Given the description of an element on the screen output the (x, y) to click on. 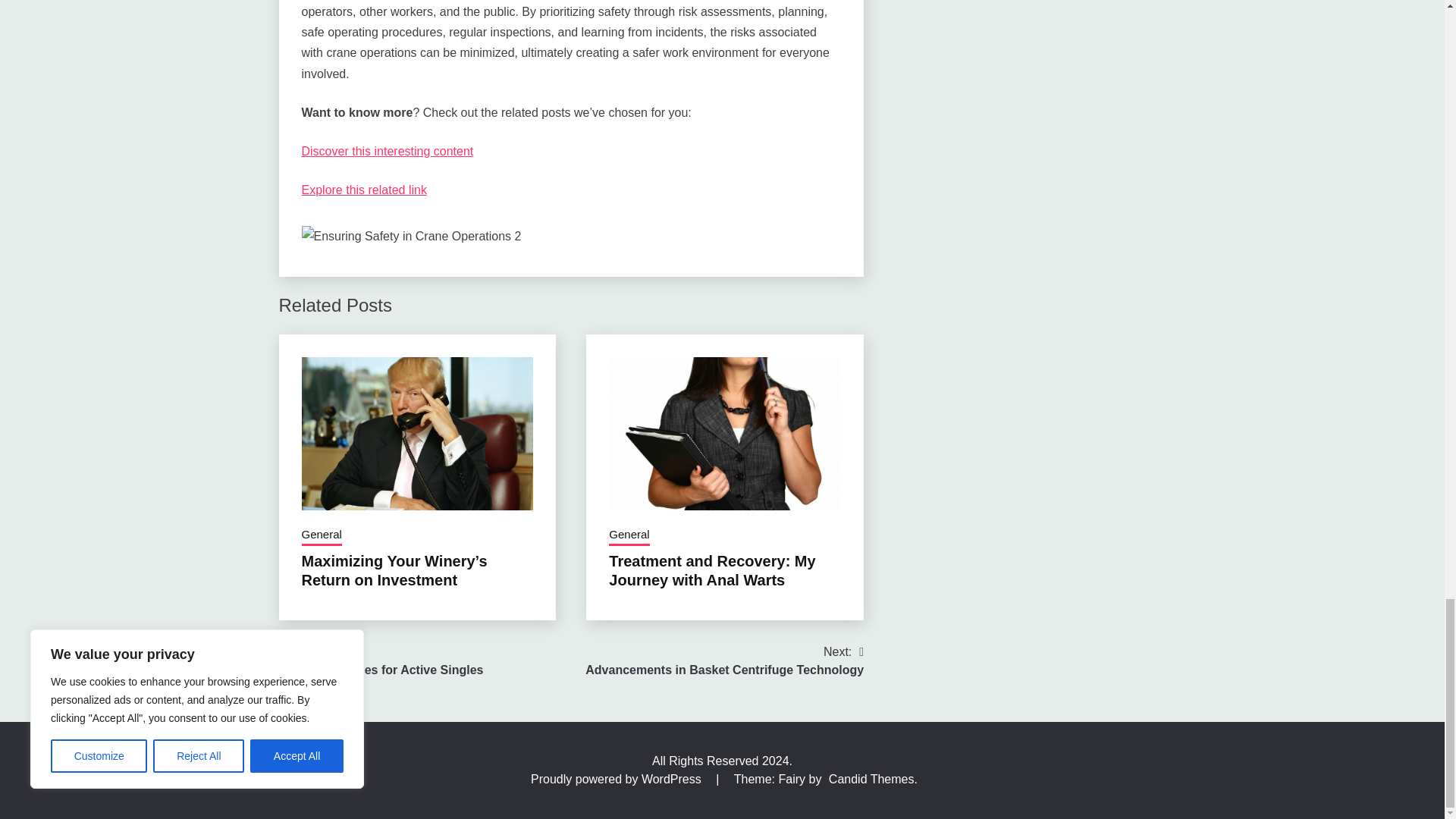
Explore this related link (363, 189)
Discover this interesting content (387, 151)
